Given the description of an element on the screen output the (x, y) to click on. 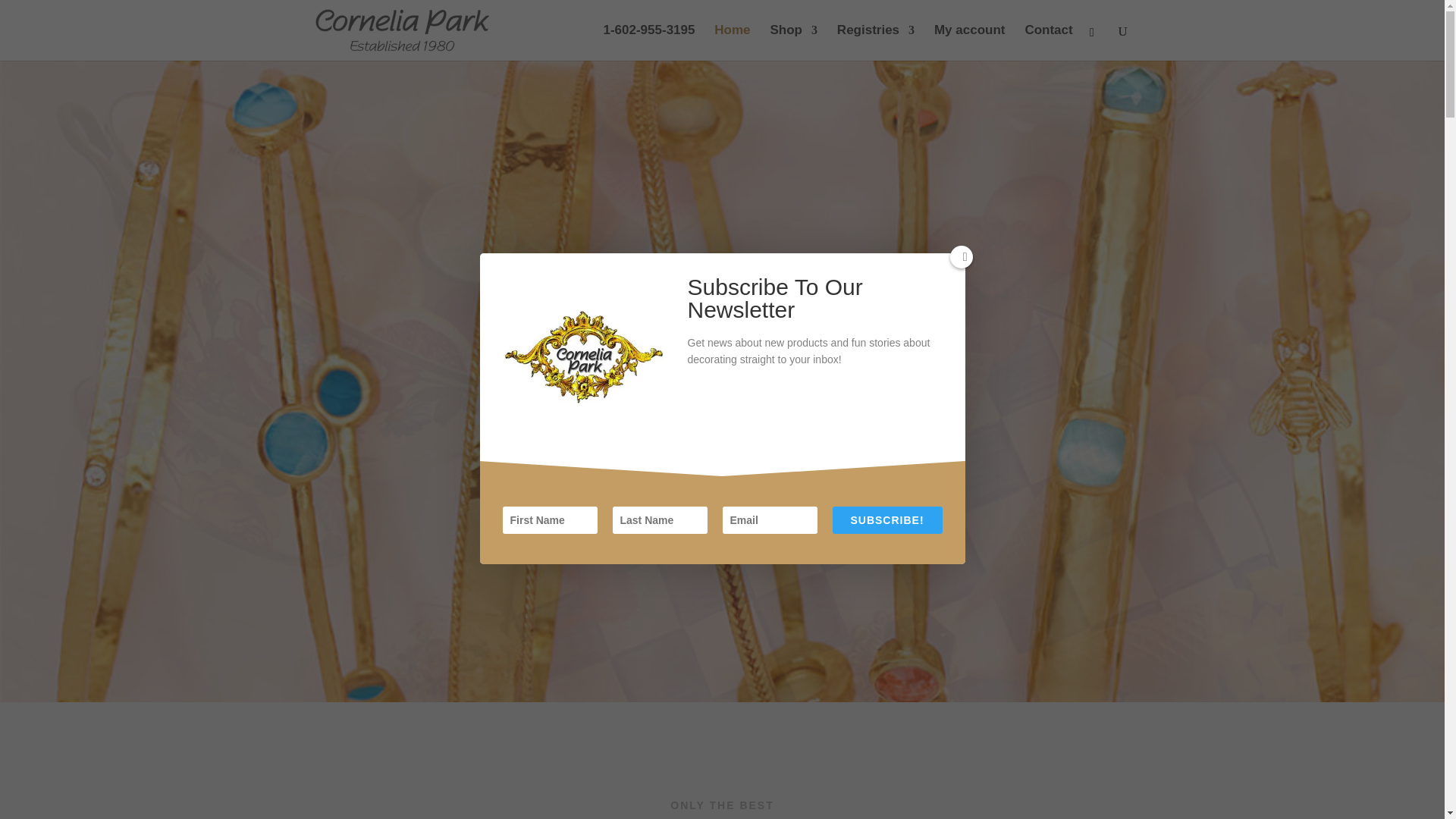
1-602-955-3195 (648, 42)
Home (731, 42)
Shop (793, 42)
Registries (875, 42)
Contact (1048, 42)
My account (970, 42)
